Given the description of an element on the screen output the (x, y) to click on. 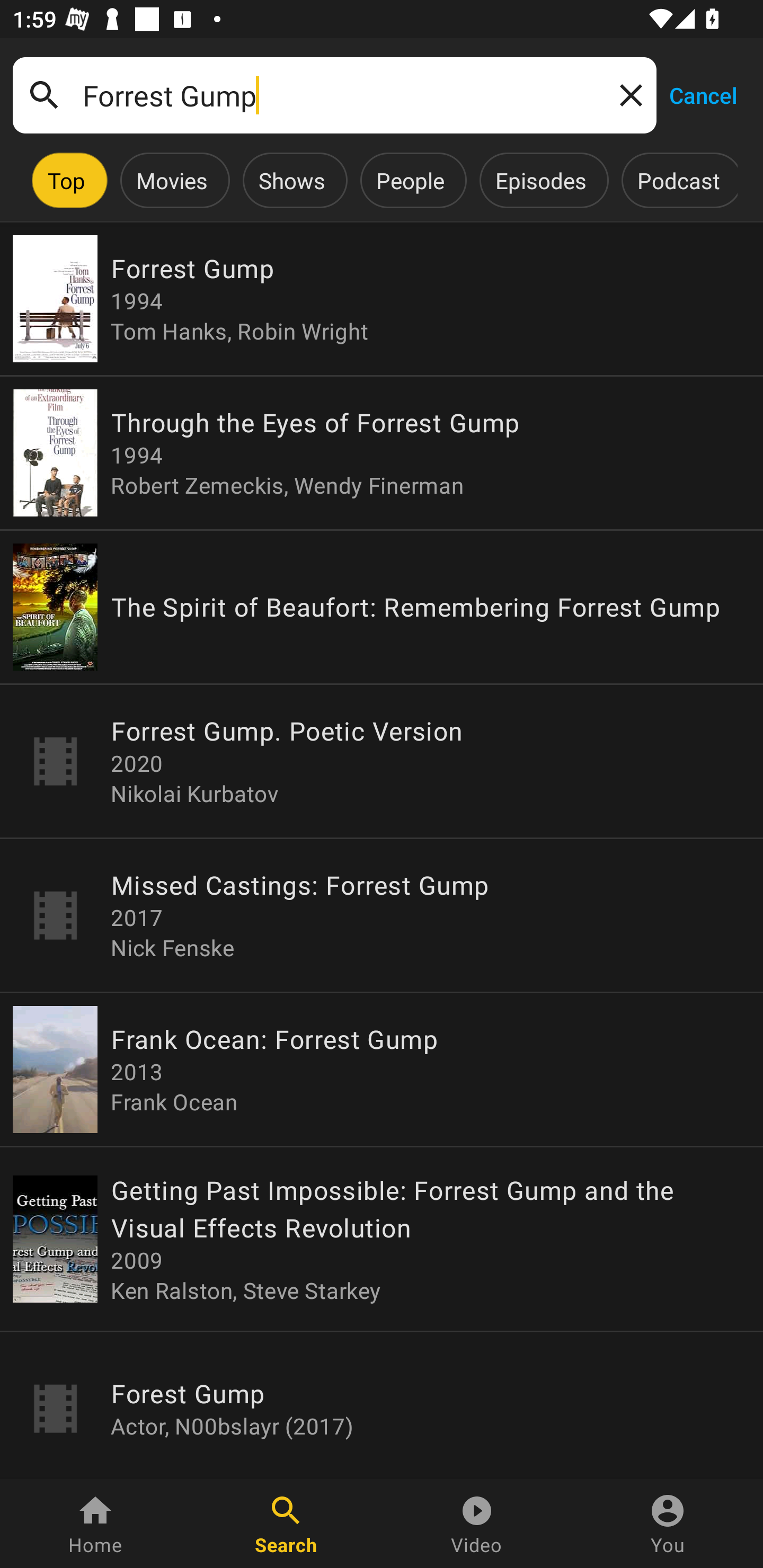
Clear query (627, 94)
Cancel (703, 94)
Forrest Gump (334, 95)
Top (66, 180)
Movies (171, 180)
Shows (291, 180)
People (410, 180)
Episodes (540, 180)
Podcast (678, 180)
Forrest Gump 1994 Tom Hanks, Robin Wright (381, 298)
The Spirit of Beaufort: Remembering Forrest Gump (381, 607)
Forrest Gump. Poetic Version 2020 Nikolai Kurbatov (381, 761)
Missed Castings: Forrest Gump 2017 Nick Fenske (381, 914)
Frank Ocean: Forrest Gump 2013 Frank Ocean (381, 1069)
Forest Gump Actor, N00bslayr (2017) (381, 1405)
Home (95, 1523)
Video (476, 1523)
You (667, 1523)
